Given the description of an element on the screen output the (x, y) to click on. 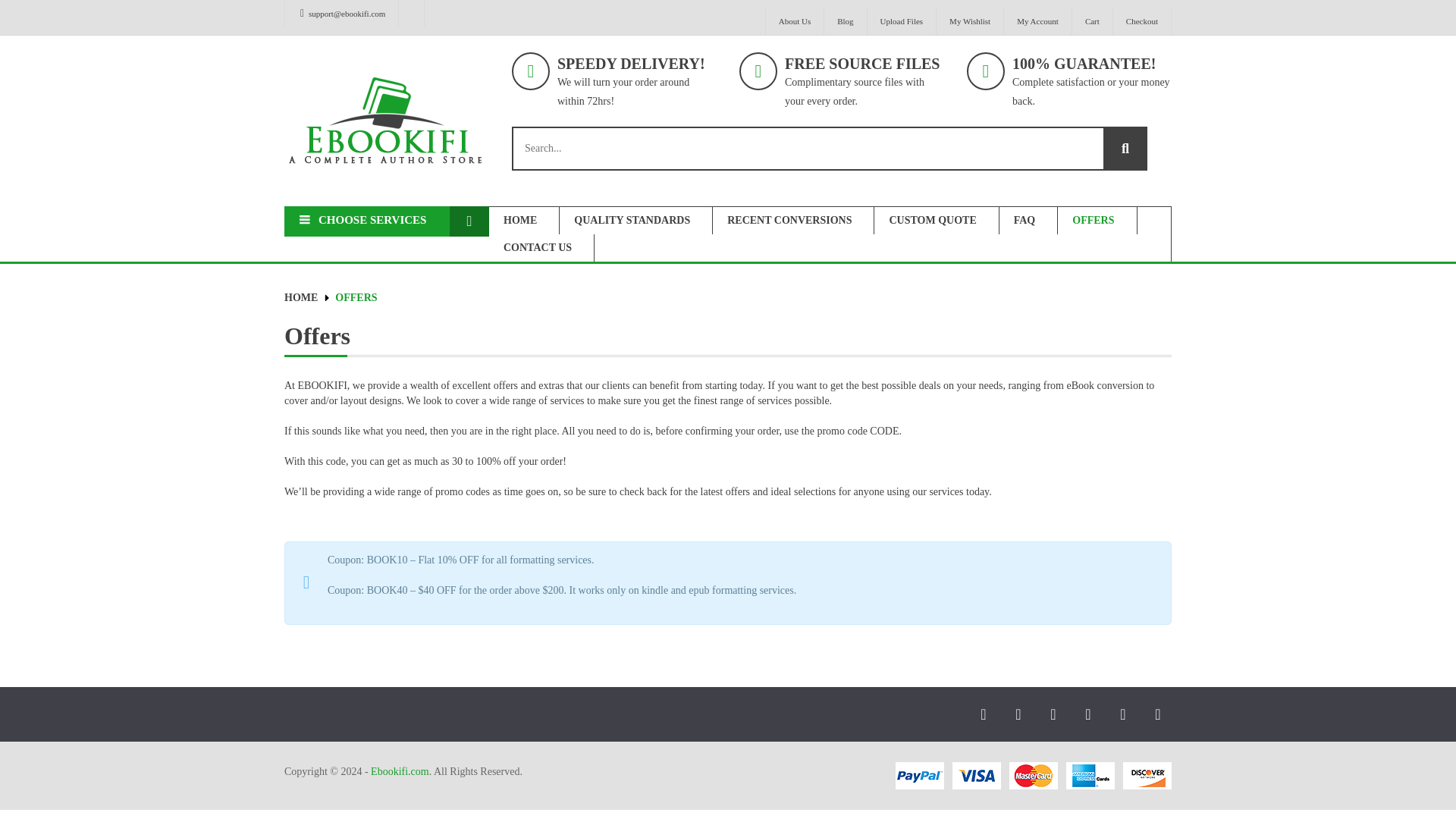
QUALITY STANDARDS (636, 220)
Blog (845, 21)
My Wishlist (969, 21)
Google-plus (1123, 714)
CUSTOM QUOTE (936, 220)
Ebookifi.com (386, 120)
Checkout (1141, 21)
HOME (524, 220)
Twitter (1018, 714)
Upload Files (901, 21)
